Given the description of an element on the screen output the (x, y) to click on. 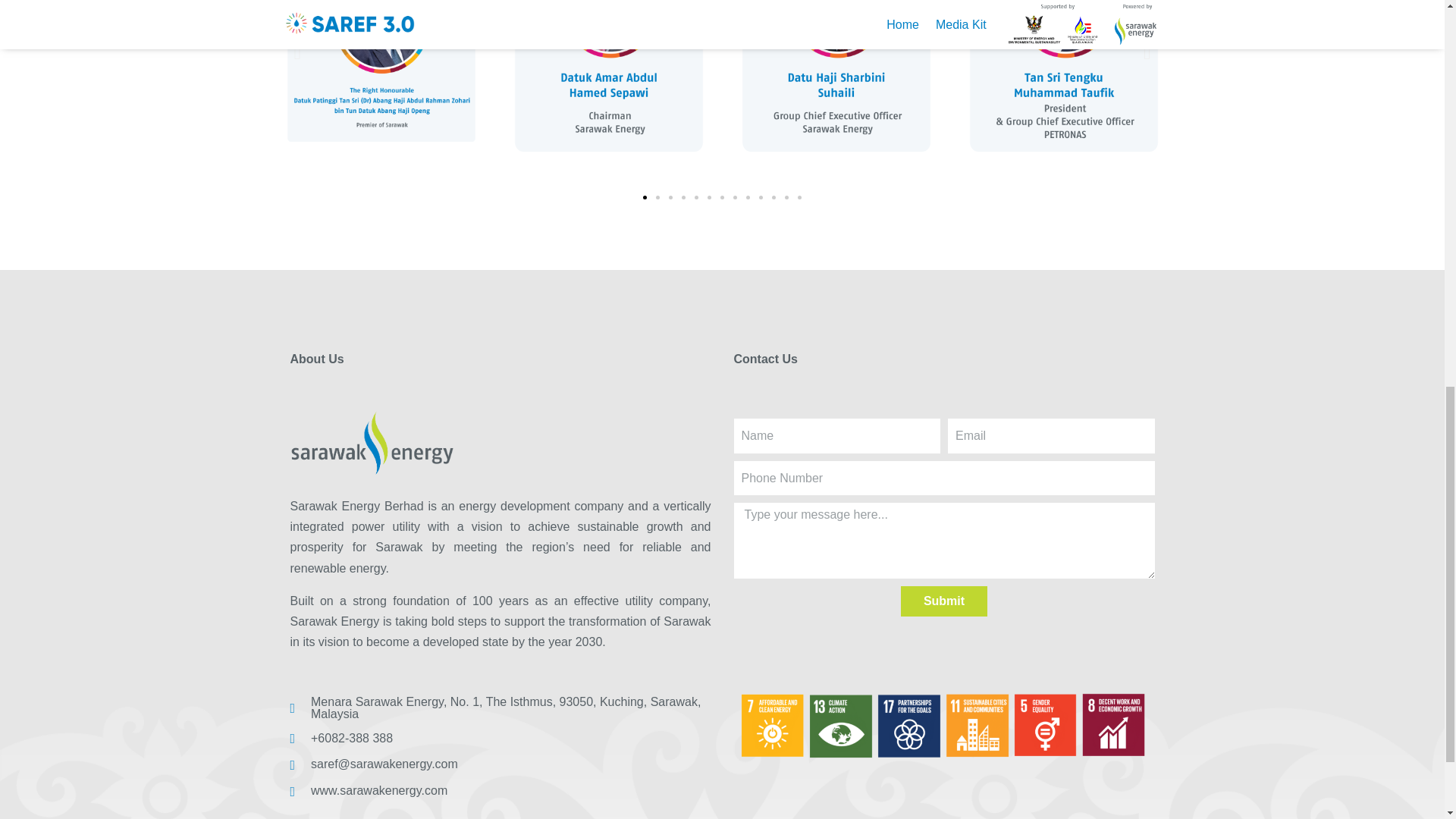
Submit (944, 601)
www.sarawakenergy.com (499, 790)
